Given the description of an element on the screen output the (x, y) to click on. 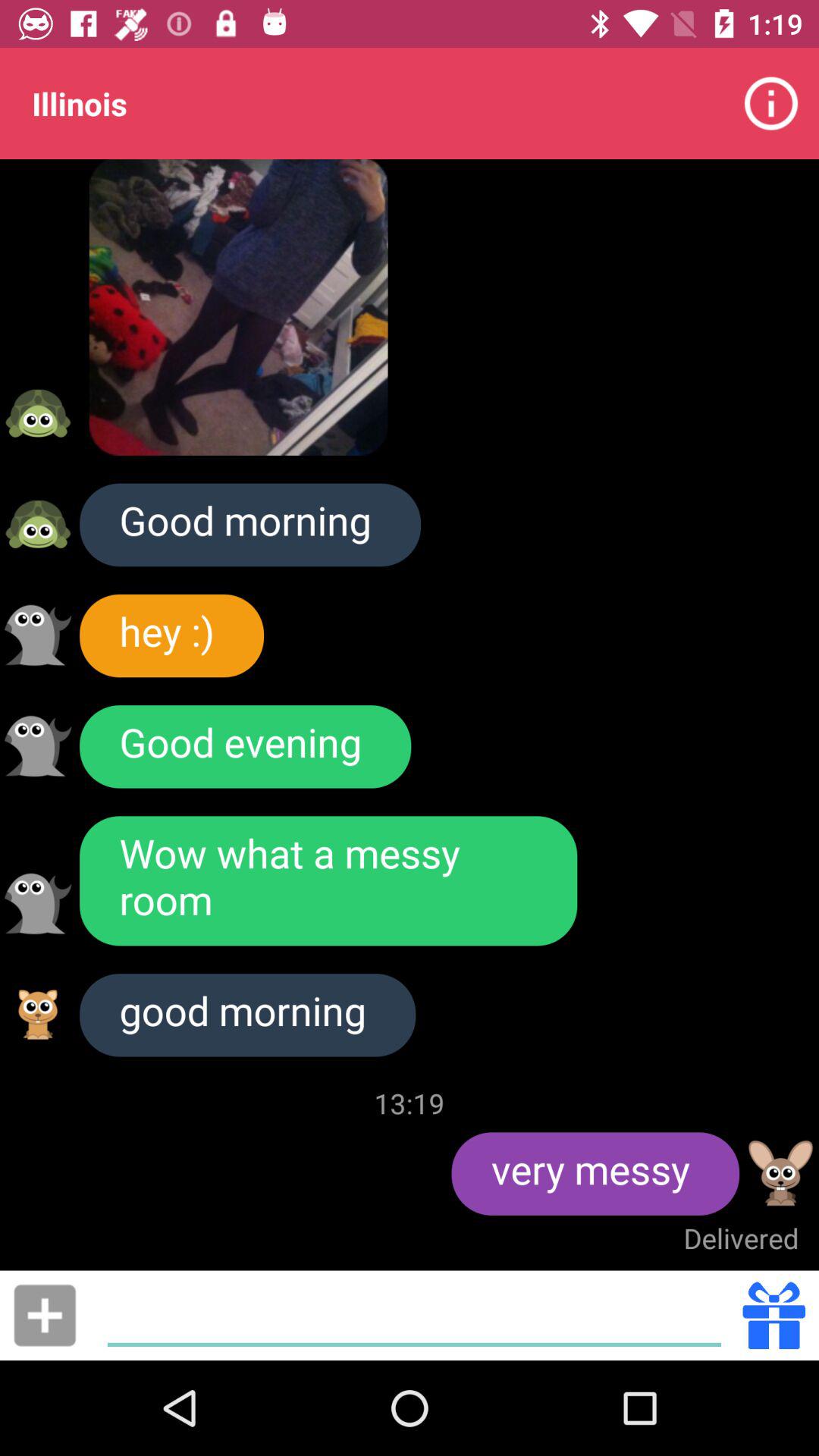
press item above delivered item (595, 1173)
